Given the description of an element on the screen output the (x, y) to click on. 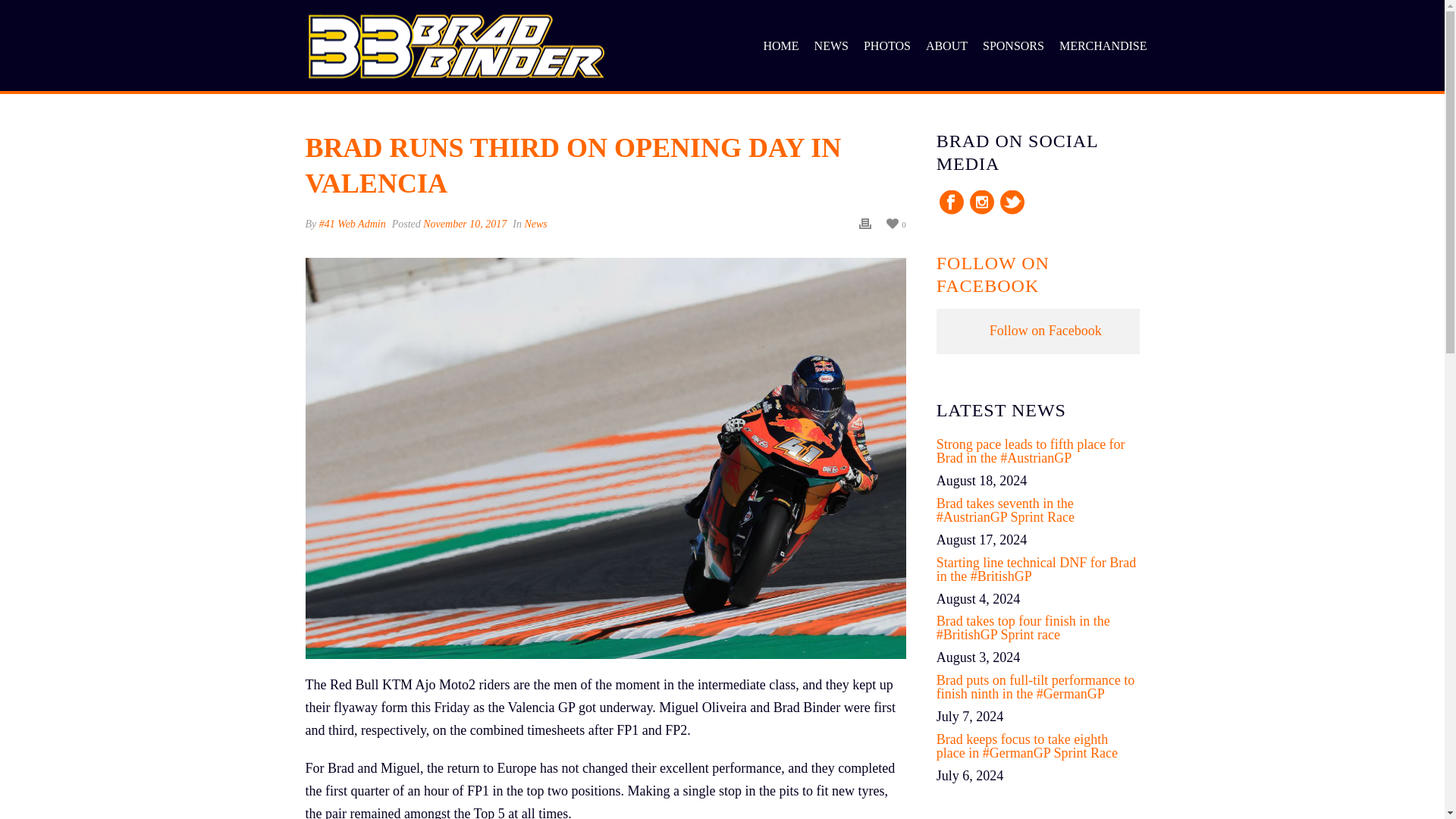
0 (895, 222)
FOLLOW ON FACEBOOK (992, 274)
November 10, 2017 (464, 224)
ABOUT (946, 46)
SPONSORS (1013, 46)
HOME (780, 46)
Follow on Facebook (1046, 330)
MERCHANDISE (1102, 46)
News (535, 224)
HOME (780, 46)
